Given the description of an element on the screen output the (x, y) to click on. 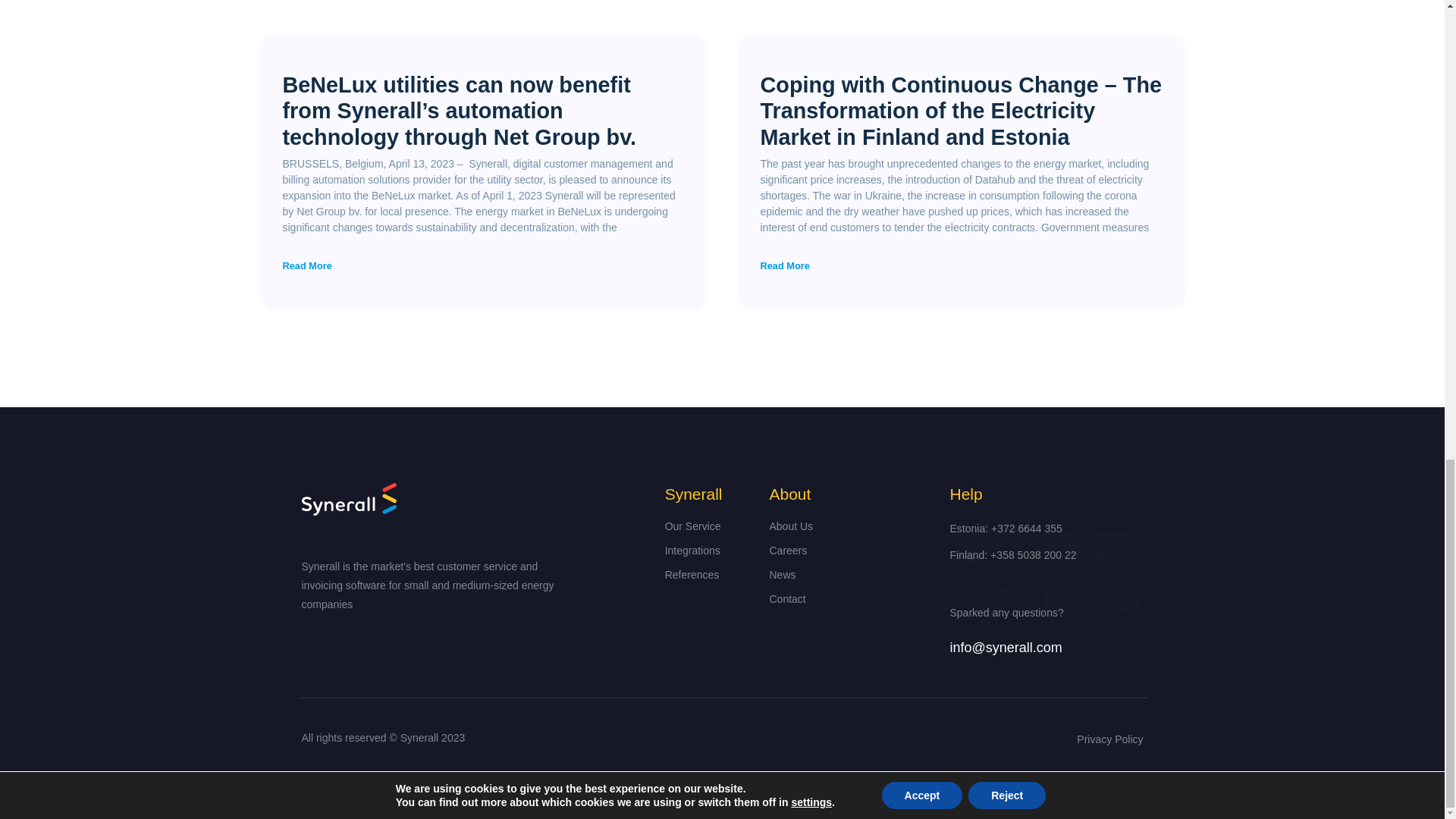
Our Service (709, 526)
About Us (847, 526)
Read More (306, 265)
Integrations (709, 550)
Read More (784, 265)
References (709, 575)
Careers (847, 550)
